Given the description of an element on the screen output the (x, y) to click on. 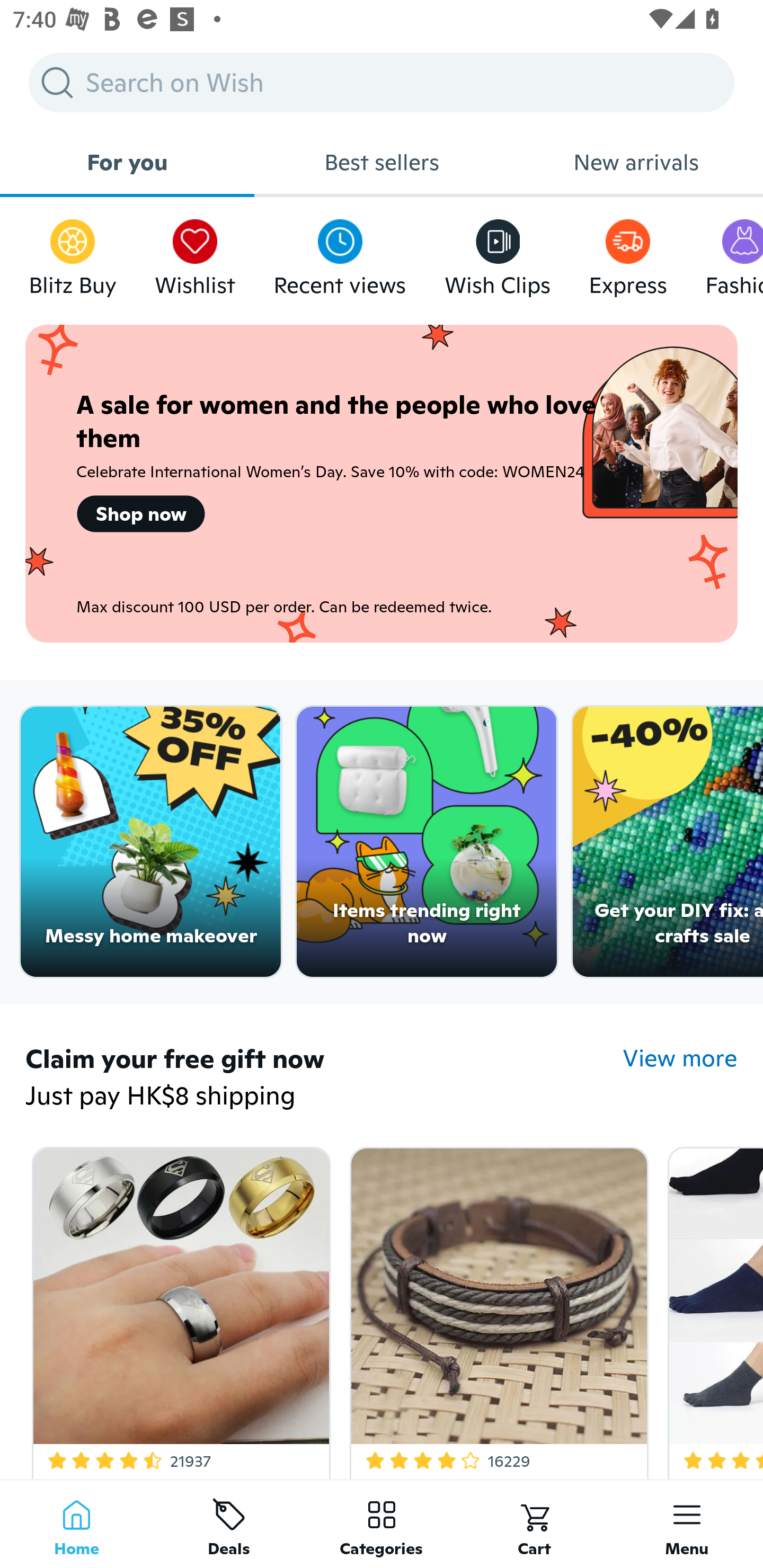
Search on Wish (381, 82)
For you (127, 161)
Best sellers (381, 161)
New arrivals (635, 161)
Blitz Buy (72, 252)
Wishlist (194, 252)
Recent views (339, 252)
Wish Clips (497, 252)
Express (627, 252)
Fashion (734, 252)
Messy home makeover (150, 841)
Items trending right now (426, 841)
Get your DIY fix: arts & crafts sale (668, 841)
Claim your free gift now
Just pay HK$8 shipping (323, 1078)
View more (679, 1058)
4.3 Star Rating 21937 Free (177, 1308)
3.8 Star Rating 16229 Free (495, 1308)
Home (76, 1523)
Deals (228, 1523)
Categories (381, 1523)
Cart (533, 1523)
Menu (686, 1523)
